Given the description of an element on the screen output the (x, y) to click on. 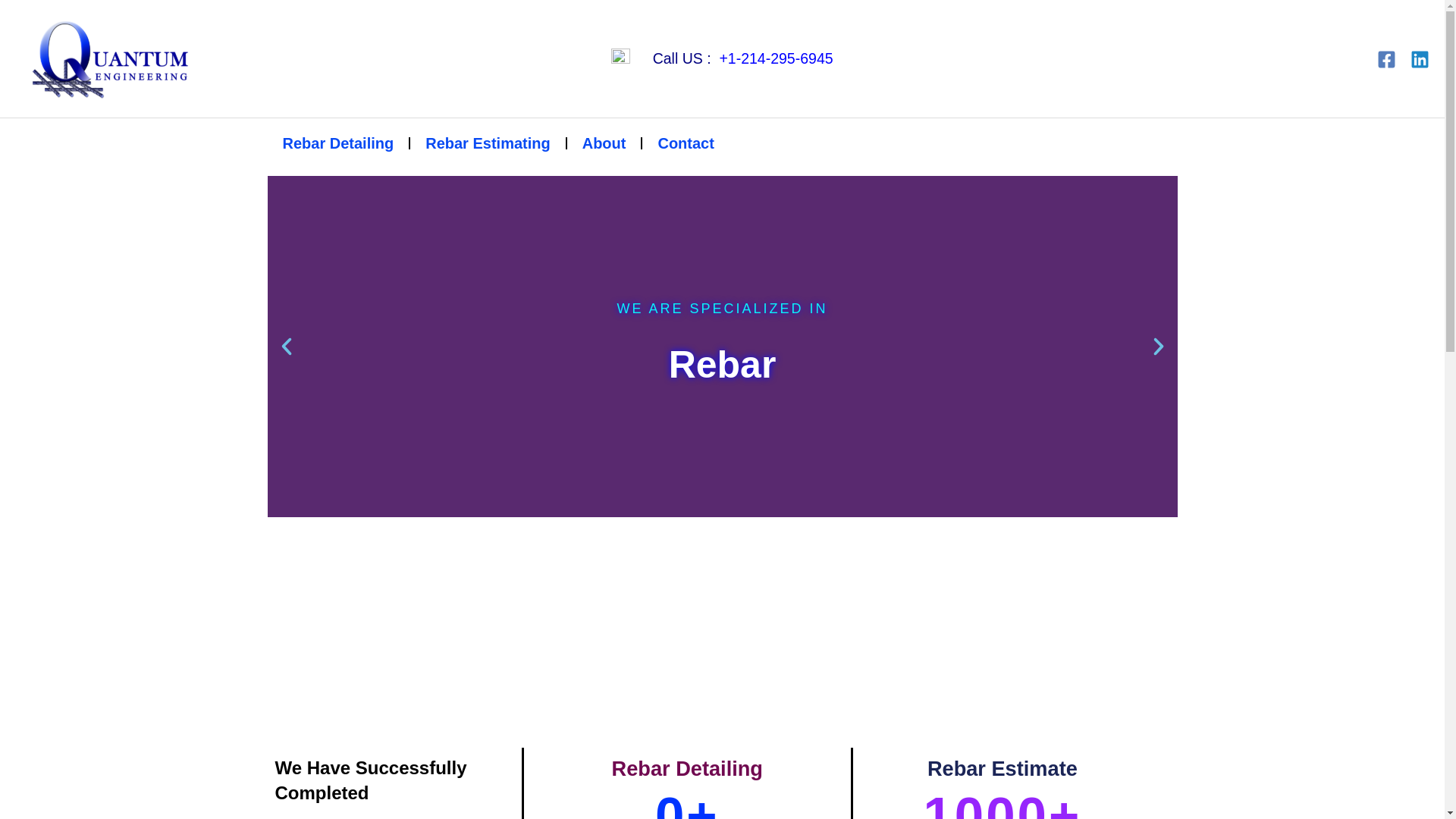
Rebar Estimating (487, 143)
Rebar Detailing (337, 143)
Contact (685, 143)
About (604, 143)
